Given the description of an element on the screen output the (x, y) to click on. 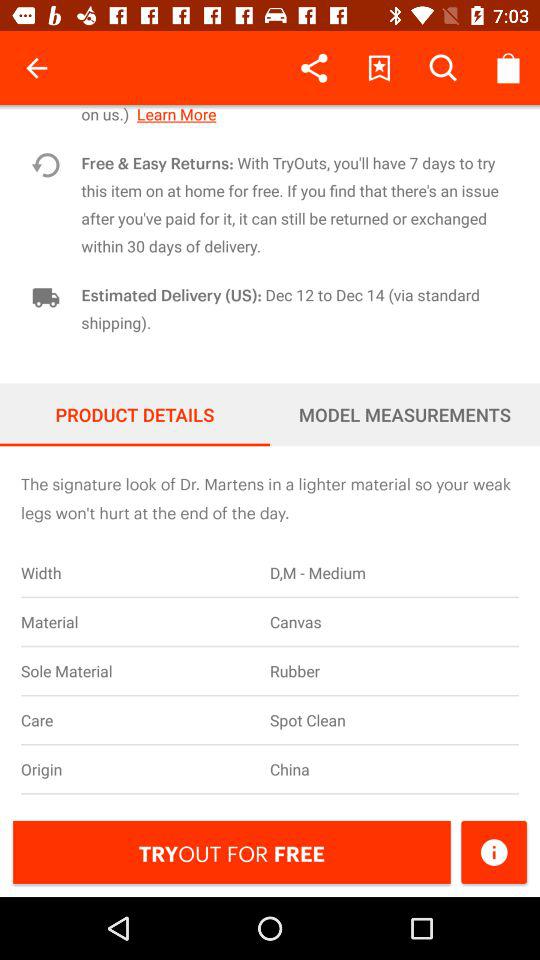
information on app (493, 851)
